Given the description of an element on the screen output the (x, y) to click on. 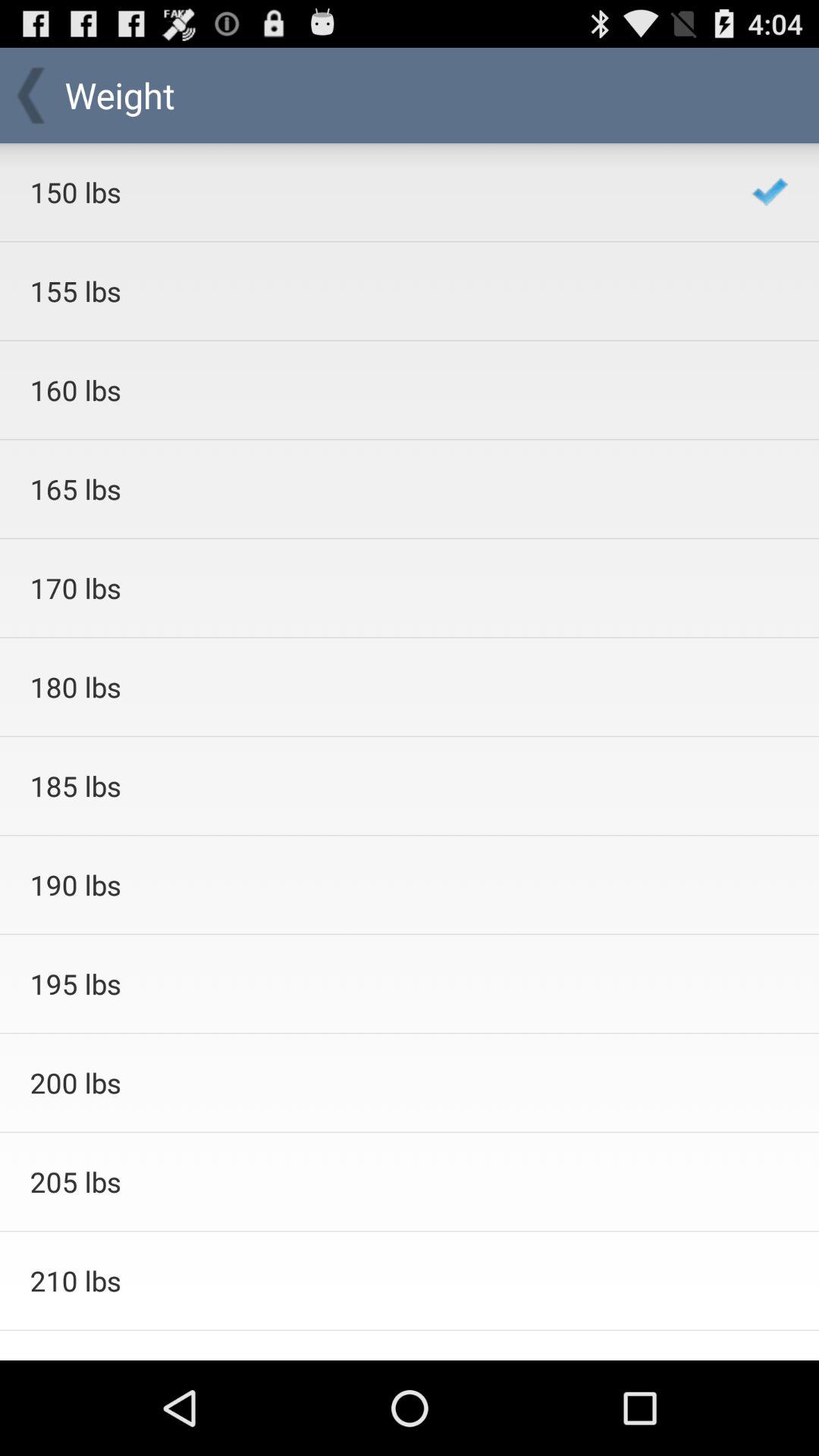
choose icon above the 165 lbs icon (371, 389)
